Given the description of an element on the screen output the (x, y) to click on. 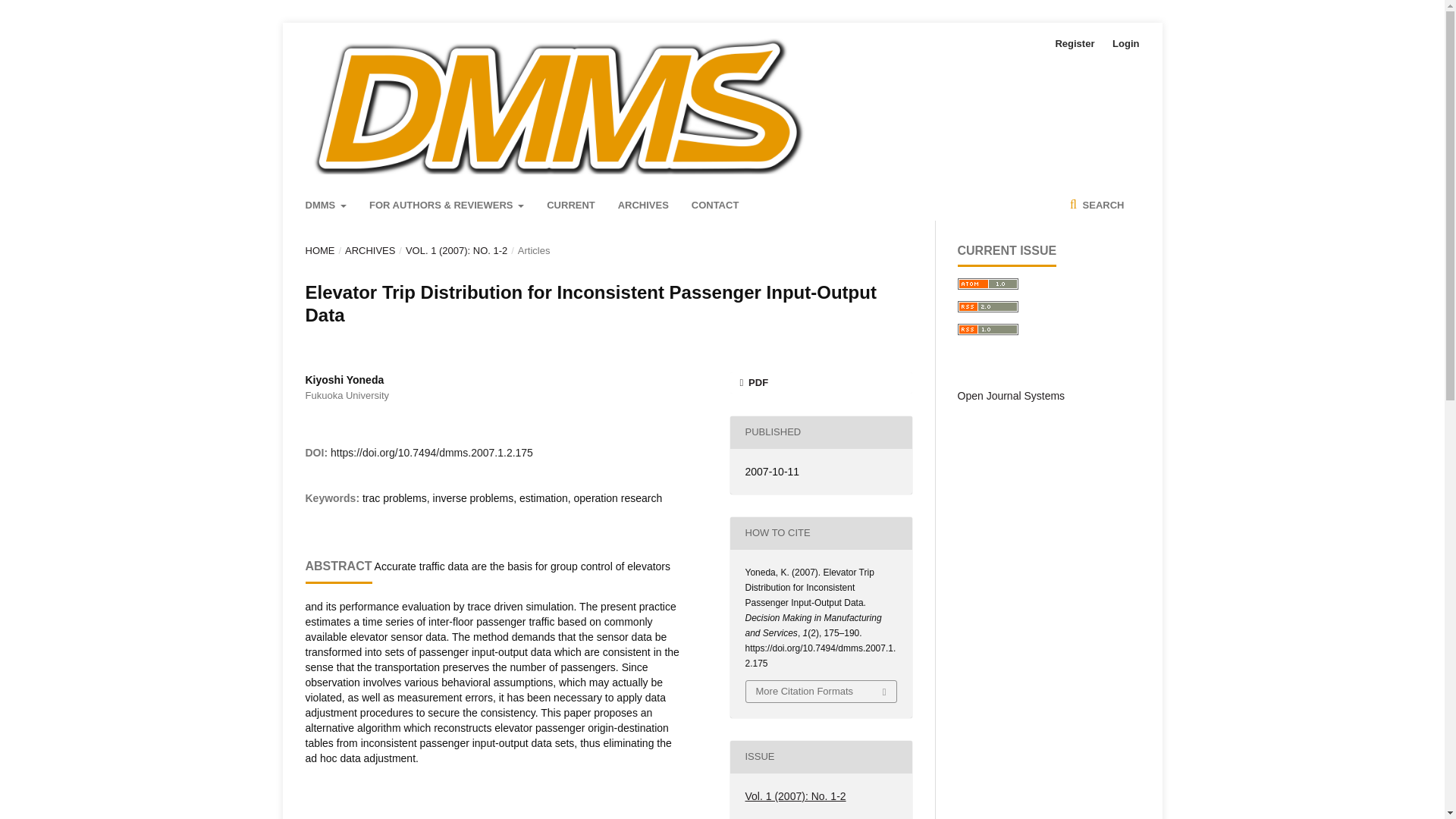
PDF (820, 382)
Register (1074, 43)
HOME (319, 250)
CURRENT (571, 205)
Login (1121, 43)
DMMS (325, 205)
ARCHIVES (642, 205)
SEARCH (1096, 205)
ARCHIVES (369, 250)
CONTACT (715, 205)
More Citation Formats (820, 690)
